Given the description of an element on the screen output the (x, y) to click on. 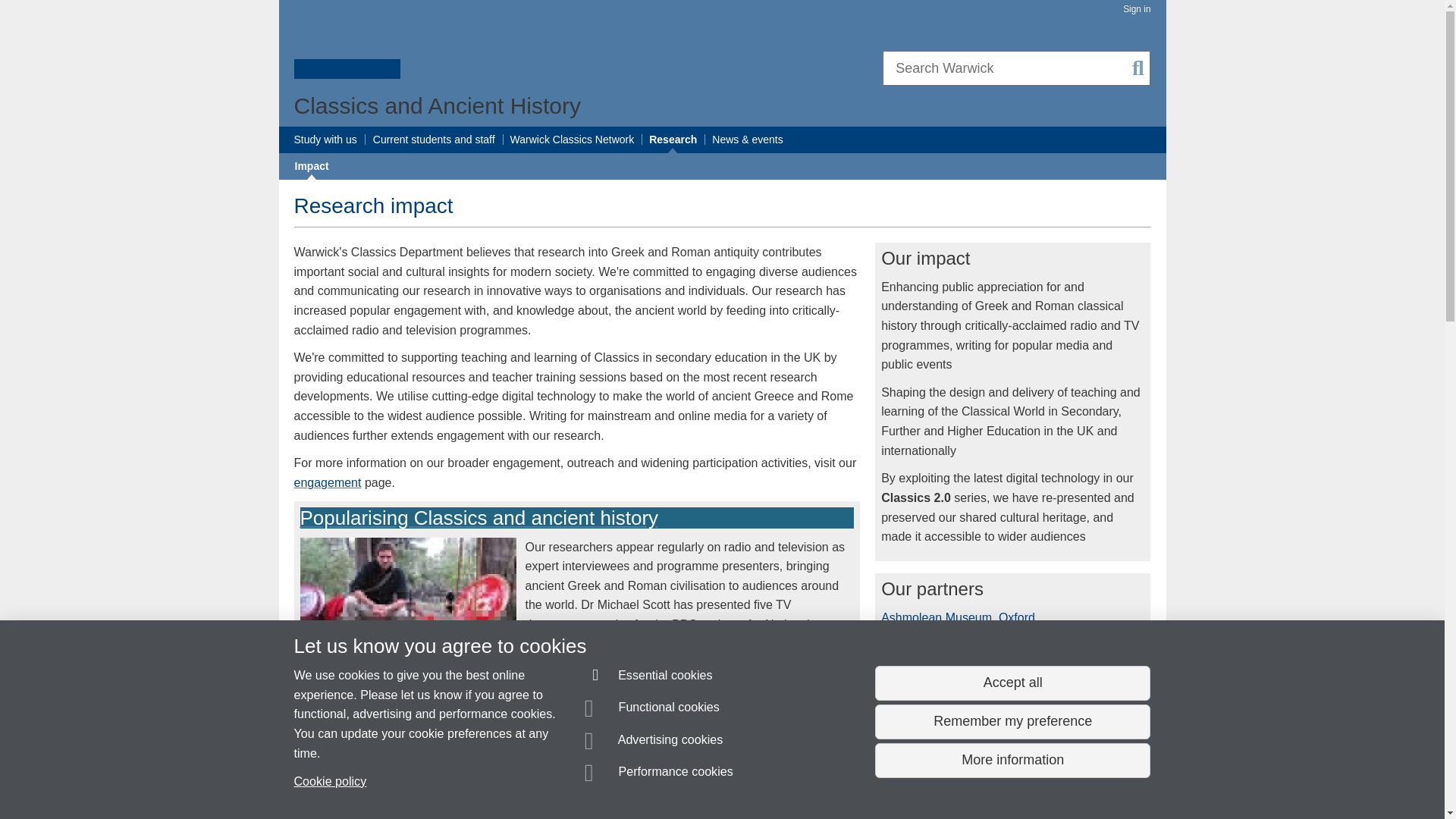
Current students and staff (433, 139)
Accept all functional, advertising and performance cookies (1012, 683)
Research (673, 139)
Warwick Classics Network (572, 139)
Classics and Ancient History (437, 105)
University of Warwick homepage (346, 48)
Study with us (325, 139)
Click for more information (1002, 813)
